Given the description of an element on the screen output the (x, y) to click on. 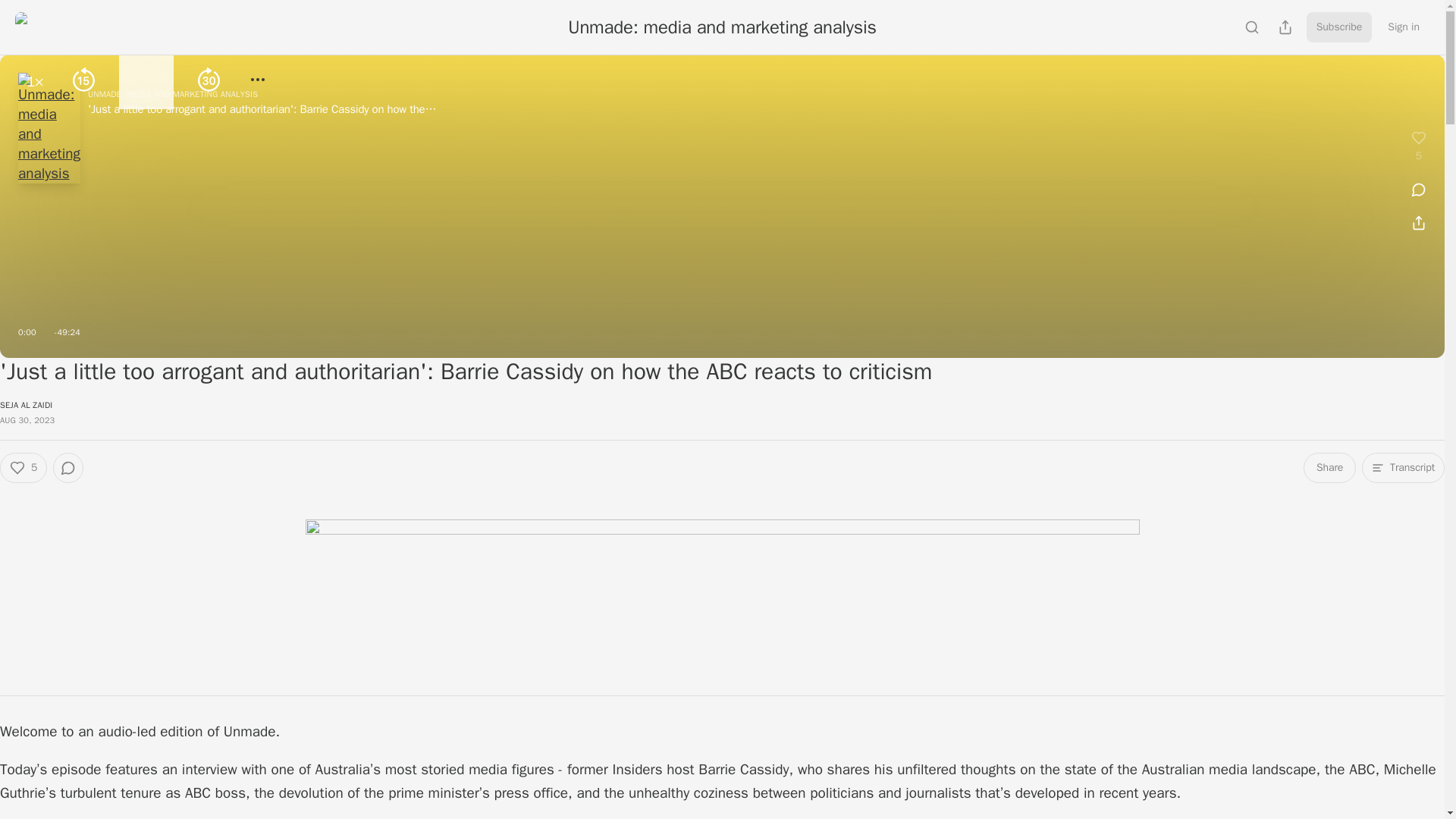
Unmade: media and marketing analysis (721, 26)
Subscribe (1339, 27)
Share (1329, 467)
Transcript (1402, 467)
5 (23, 467)
SEJA AL ZAIDI (26, 404)
Sign in (1403, 27)
